Given the description of an element on the screen output the (x, y) to click on. 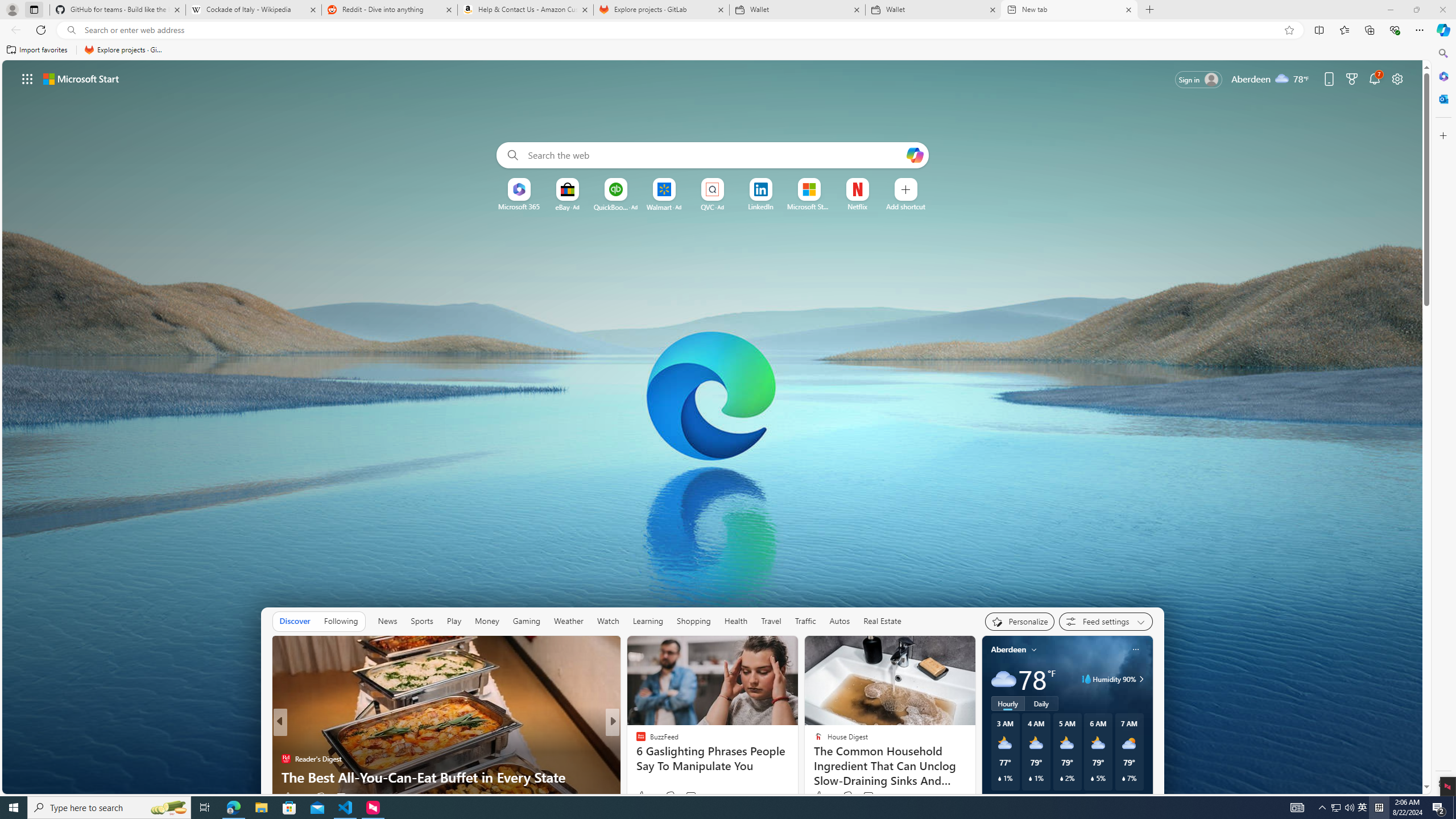
Class: icon-img (1135, 649)
Ad (720, 207)
Microsoft rewards (1351, 78)
Cockade of Italy - Wikipedia (253, 9)
Fatal Warning Issued: Cheese Recalled Across the Entire U.S. (796, 767)
App launcher (27, 78)
Reader's Digest (635, 758)
Play (453, 621)
Money (486, 621)
Shopping (693, 621)
